Given the description of an element on the screen output the (x, y) to click on. 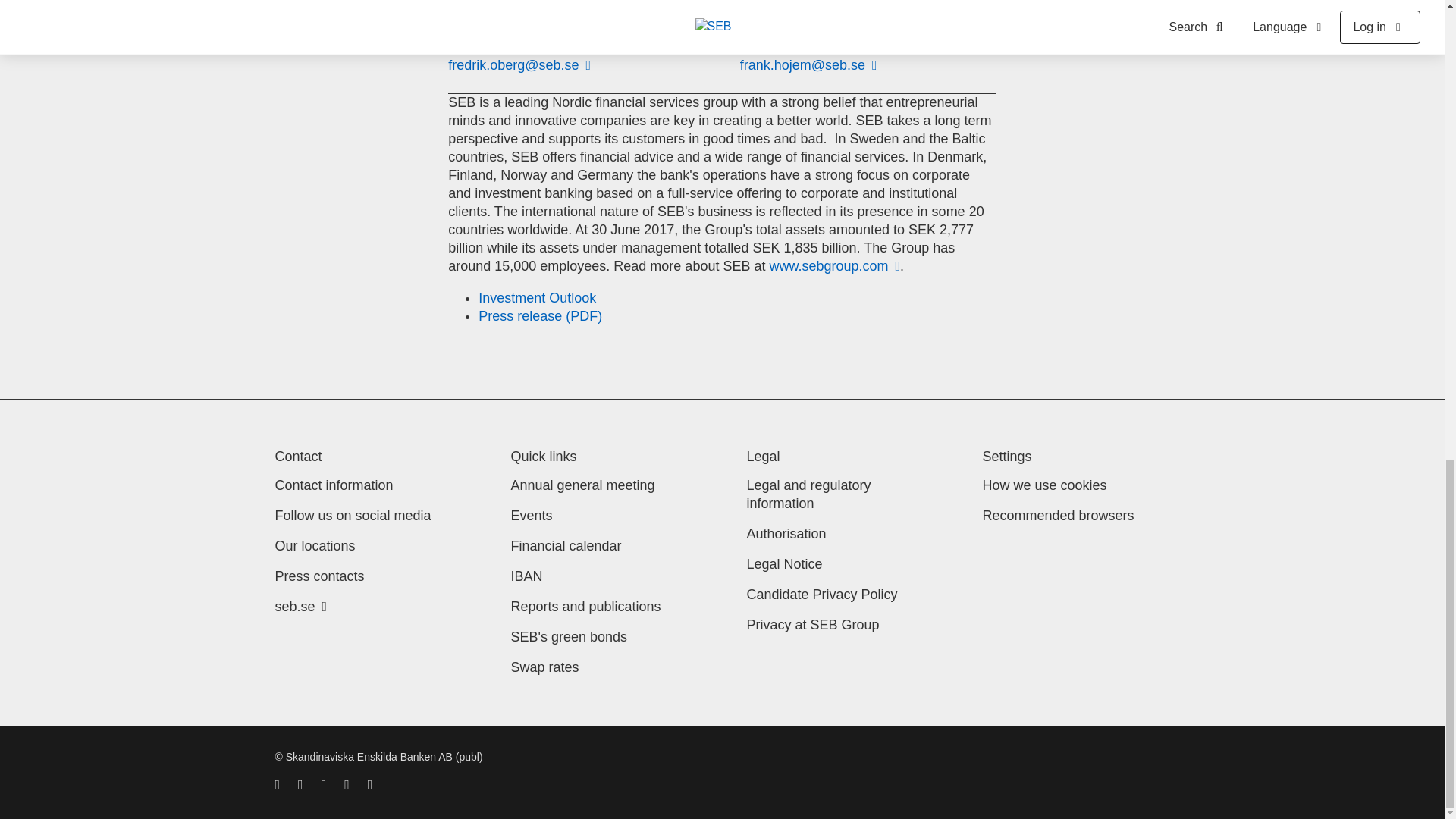
seb.se (300, 606)
Follow us on social media (352, 515)
Annual general meeting (583, 485)
www.sebgroup.com (833, 265)
Investment Outlook (537, 297)
Financial calendar (566, 545)
Press contacts (319, 575)
www.sebgroup.com (833, 265)
Swap rates (545, 667)
Follow us on social media (352, 515)
